Given the description of an element on the screen output the (x, y) to click on. 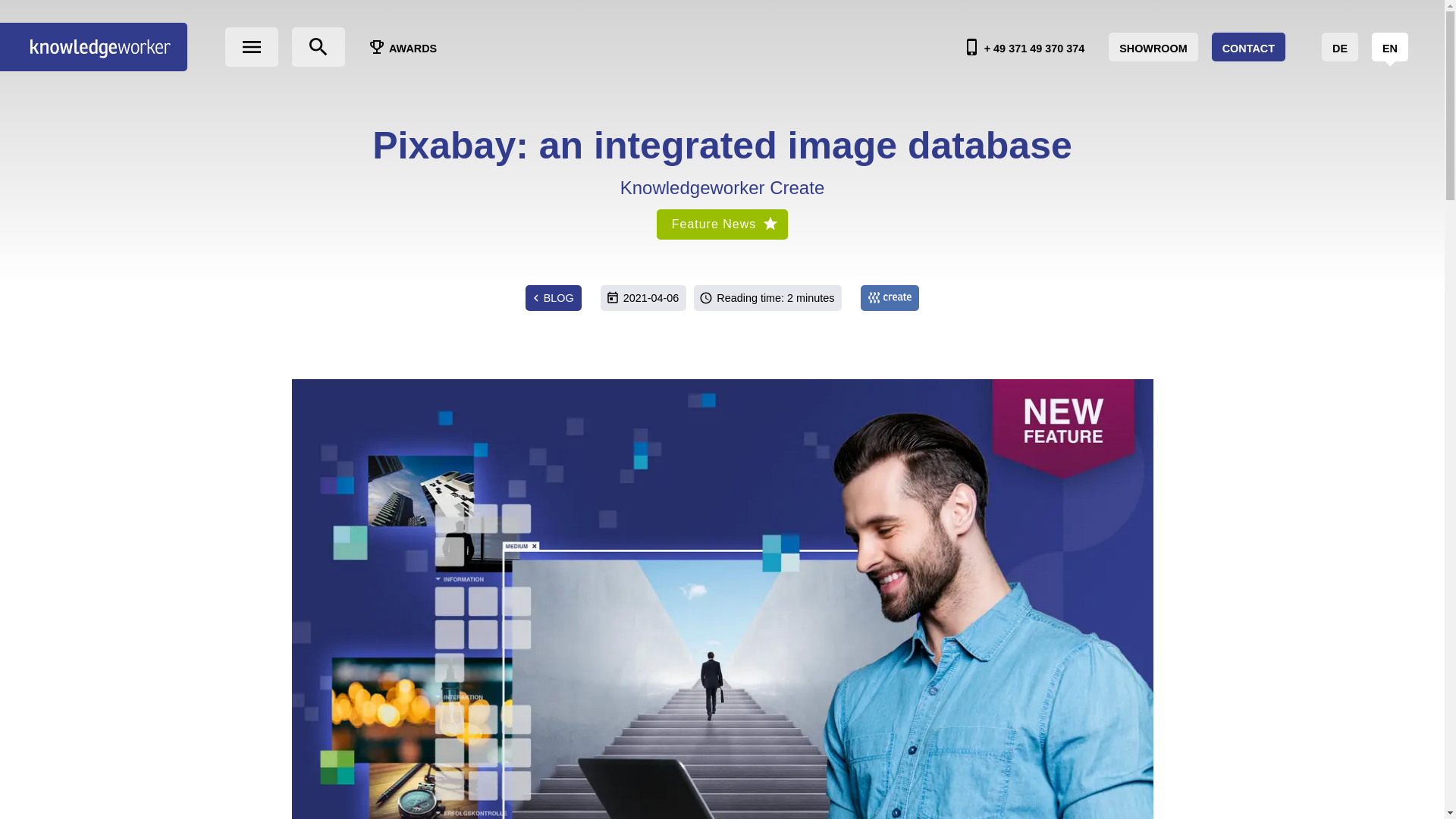
SHOWROOM (1153, 46)
DE (1340, 46)
www.knowledgeworker.com - Homepage (93, 46)
German (1340, 46)
Open Menu (251, 46)
Awards (402, 46)
English (1389, 46)
Open Search (318, 46)
CONTACT (1248, 46)
AWARDS (402, 46)
